Given the description of an element on the screen output the (x, y) to click on. 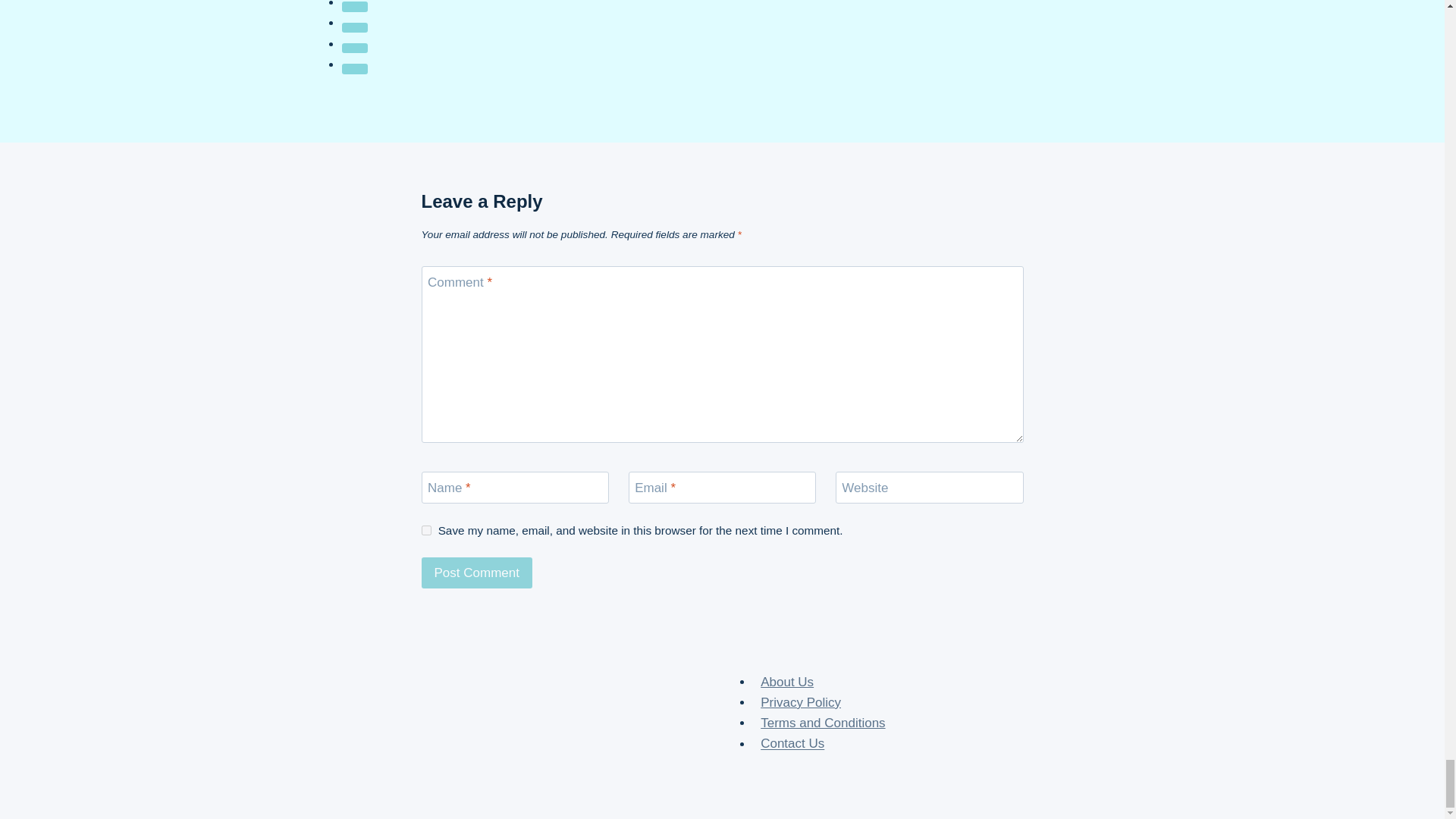
yes (426, 530)
Post Comment (477, 572)
